Given the description of an element on the screen output the (x, y) to click on. 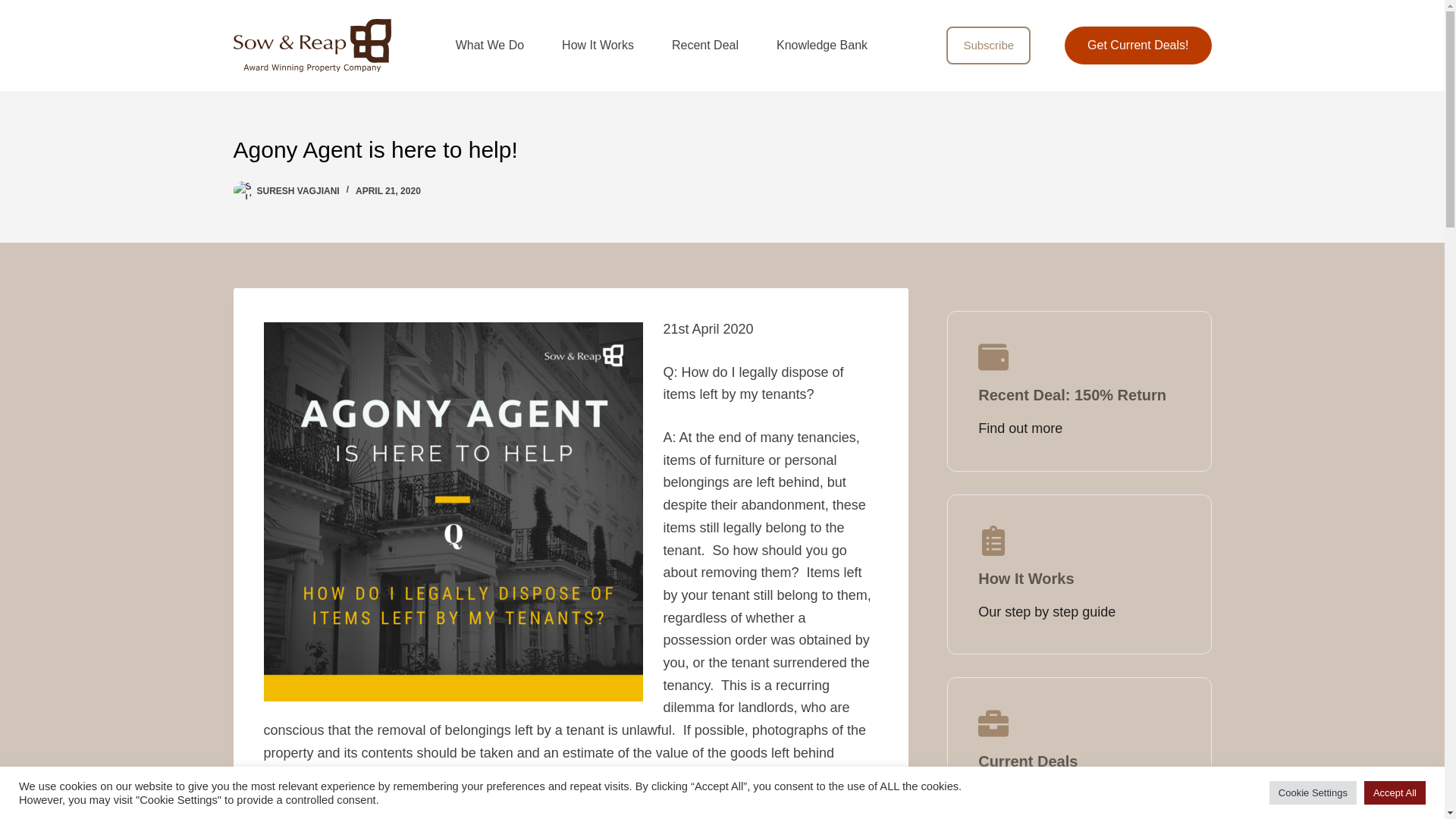
Get Current Deals! (1137, 45)
SURESH VAGJIANI (297, 190)
Subscribe (988, 45)
Recent Deal (704, 45)
What We Do (489, 45)
How It Works (597, 45)
Knowledge Bank (821, 45)
Agony Agent is here to help! (721, 149)
Skip to content (15, 7)
Posts by Suresh Vagjiani (297, 190)
